Given the description of an element on the screen output the (x, y) to click on. 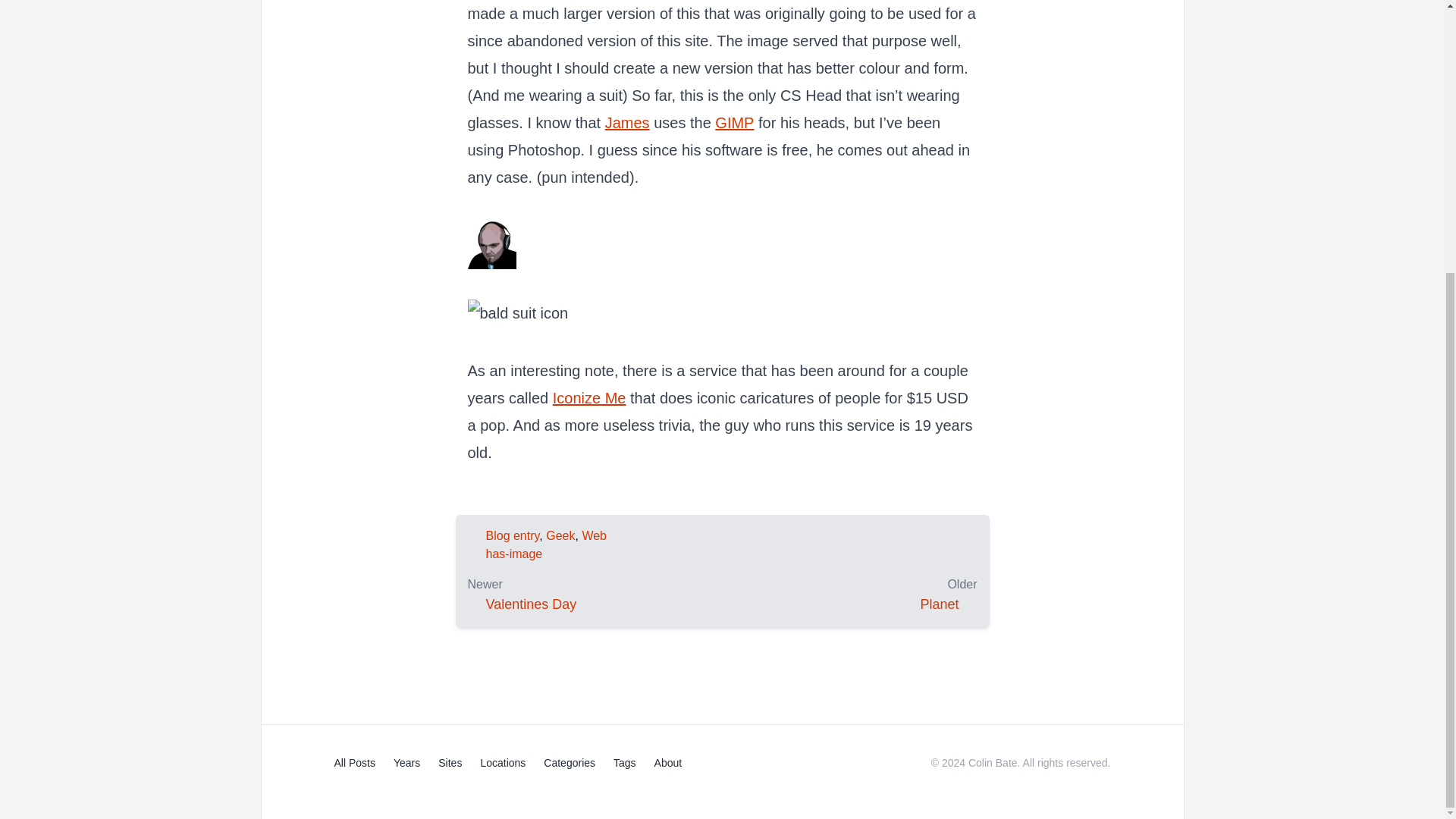
Web (593, 535)
Iconize Me (589, 397)
About (667, 762)
GIMP (734, 122)
Tags (624, 762)
has-image (512, 553)
Sites (449, 762)
James (627, 122)
Years (406, 762)
Categories (569, 762)
Geek (560, 535)
Blog entry (511, 535)
Valentines Day (530, 604)
Locations (502, 762)
Planet (939, 604)
